Given the description of an element on the screen output the (x, y) to click on. 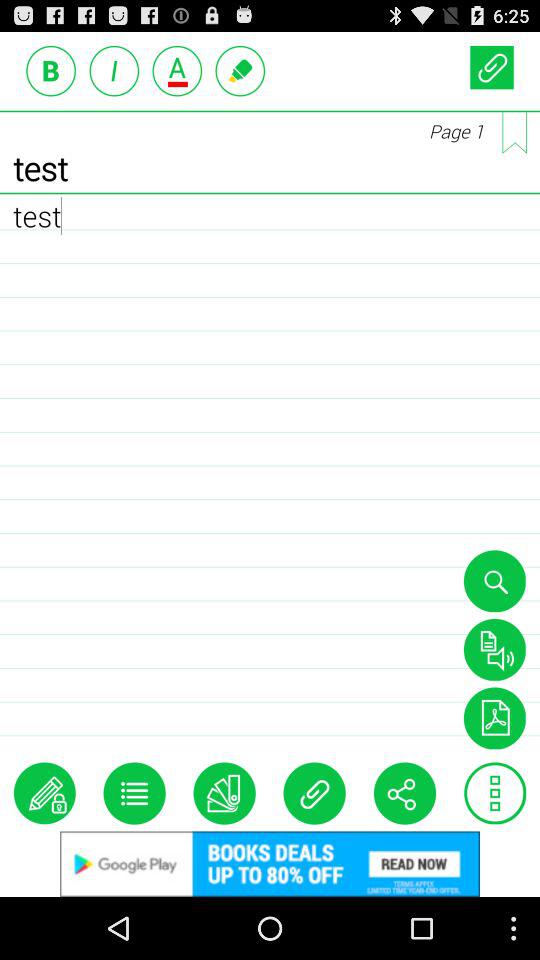
toggle search (494, 581)
